Given the description of an element on the screen output the (x, y) to click on. 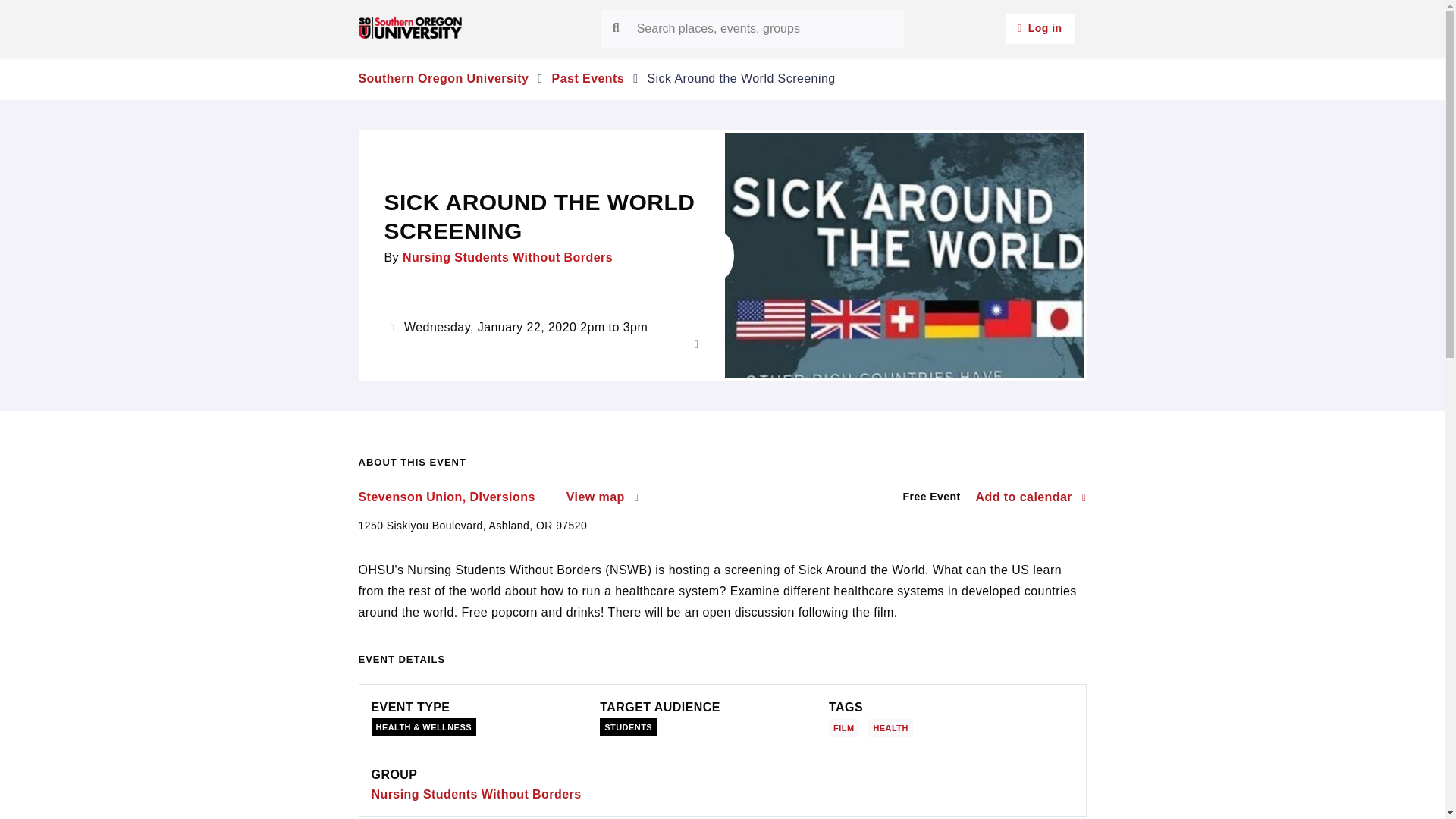
HEALTH (892, 726)
View map (602, 497)
Nursing Students Without Borders (507, 256)
Log in (1040, 28)
Nursing Students Without Borders (475, 793)
Past Events (587, 78)
Add to calendar (1030, 497)
Southern Oregon University (443, 78)
FILM (846, 726)
Stevenson Union, DIversions (454, 497)
